Given the description of an element on the screen output the (x, y) to click on. 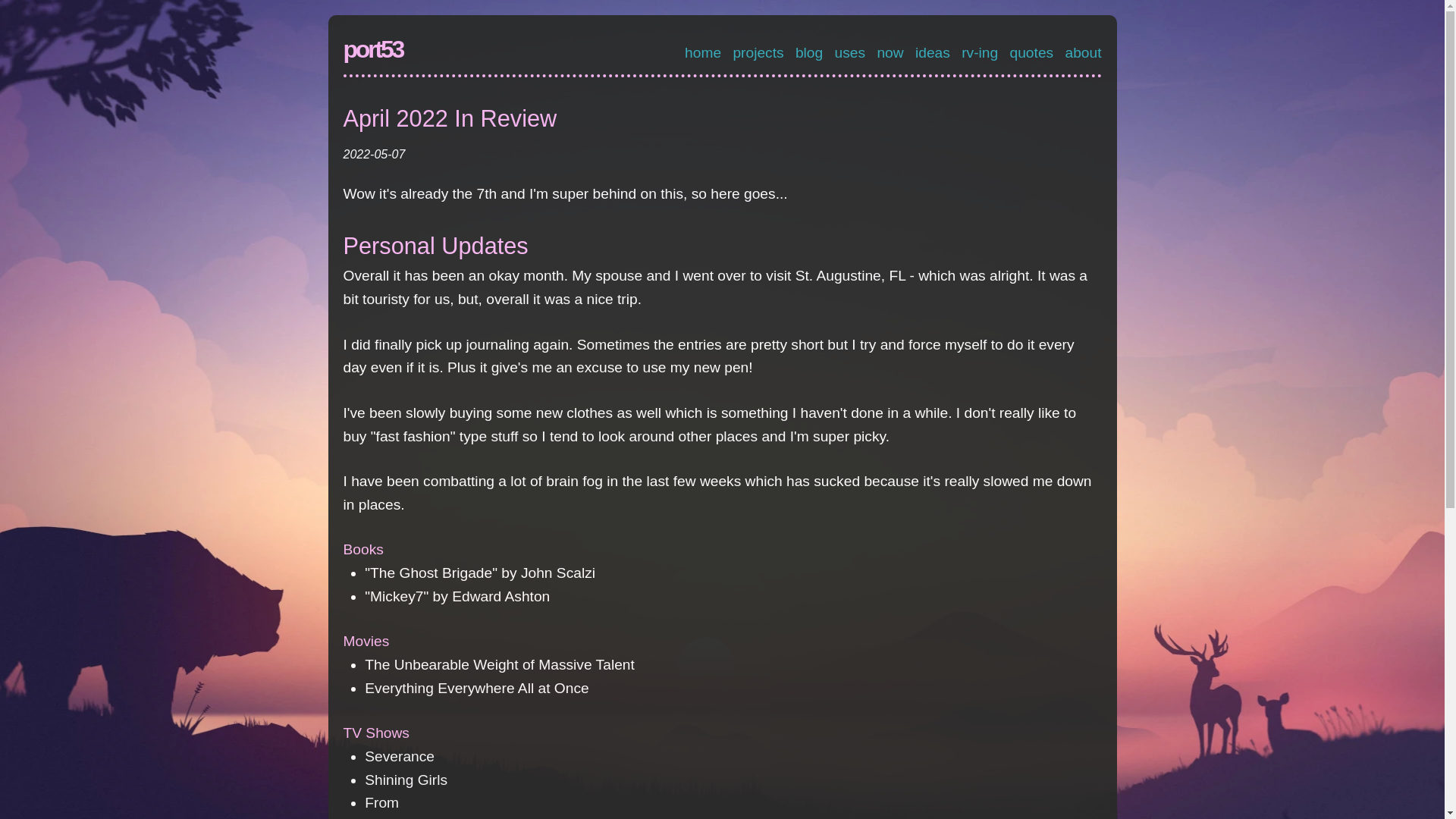
quotes (1032, 52)
about (1082, 52)
uses (850, 52)
projects (757, 52)
home (702, 52)
port53 (372, 49)
ideas (932, 52)
now (889, 52)
rv-ing (978, 52)
blog (808, 52)
